Given the description of an element on the screen output the (x, y) to click on. 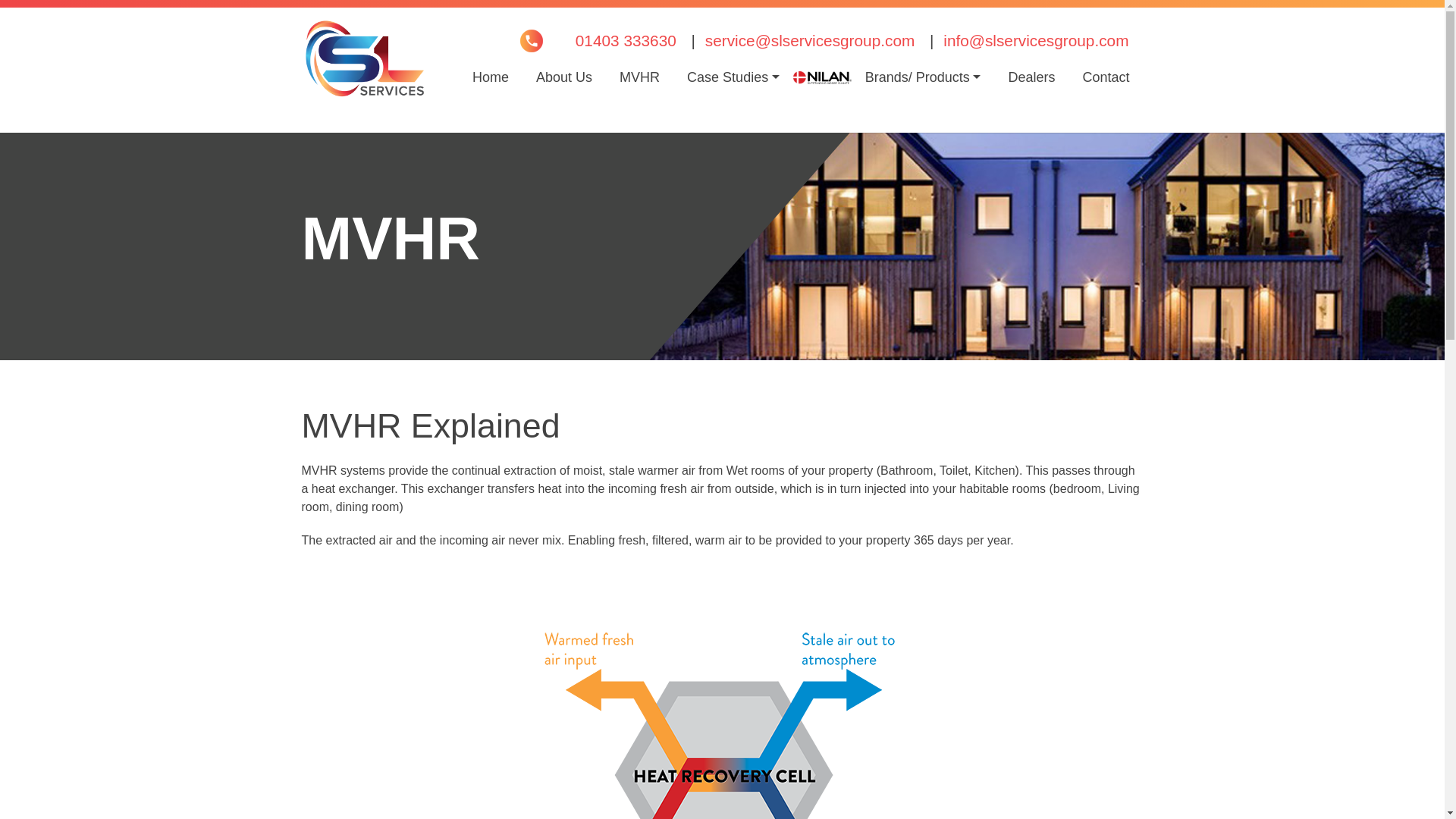
Dealers (1031, 77)
Home (490, 77)
Nilan (822, 77)
Nilan (822, 77)
Home (490, 77)
About Us (563, 77)
Contact (1105, 77)
About Us (563, 77)
MVHR (638, 77)
MVHR (638, 77)
